Given the description of an element on the screen output the (x, y) to click on. 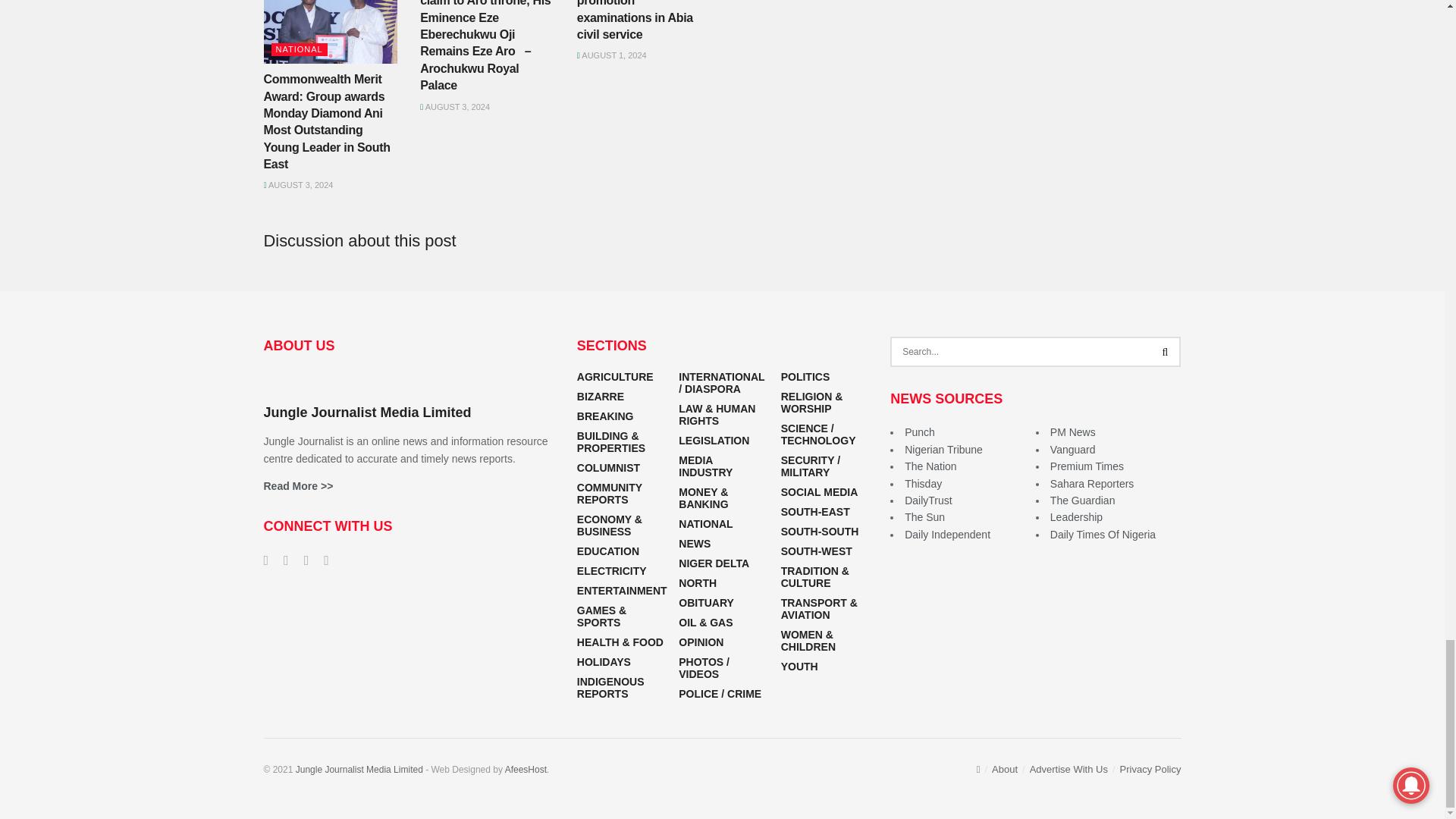
Web Hosting (526, 769)
About Jungle Journalist Media Limited (298, 485)
Jungle Journalist Media Limited (359, 769)
